Given the description of an element on the screen output the (x, y) to click on. 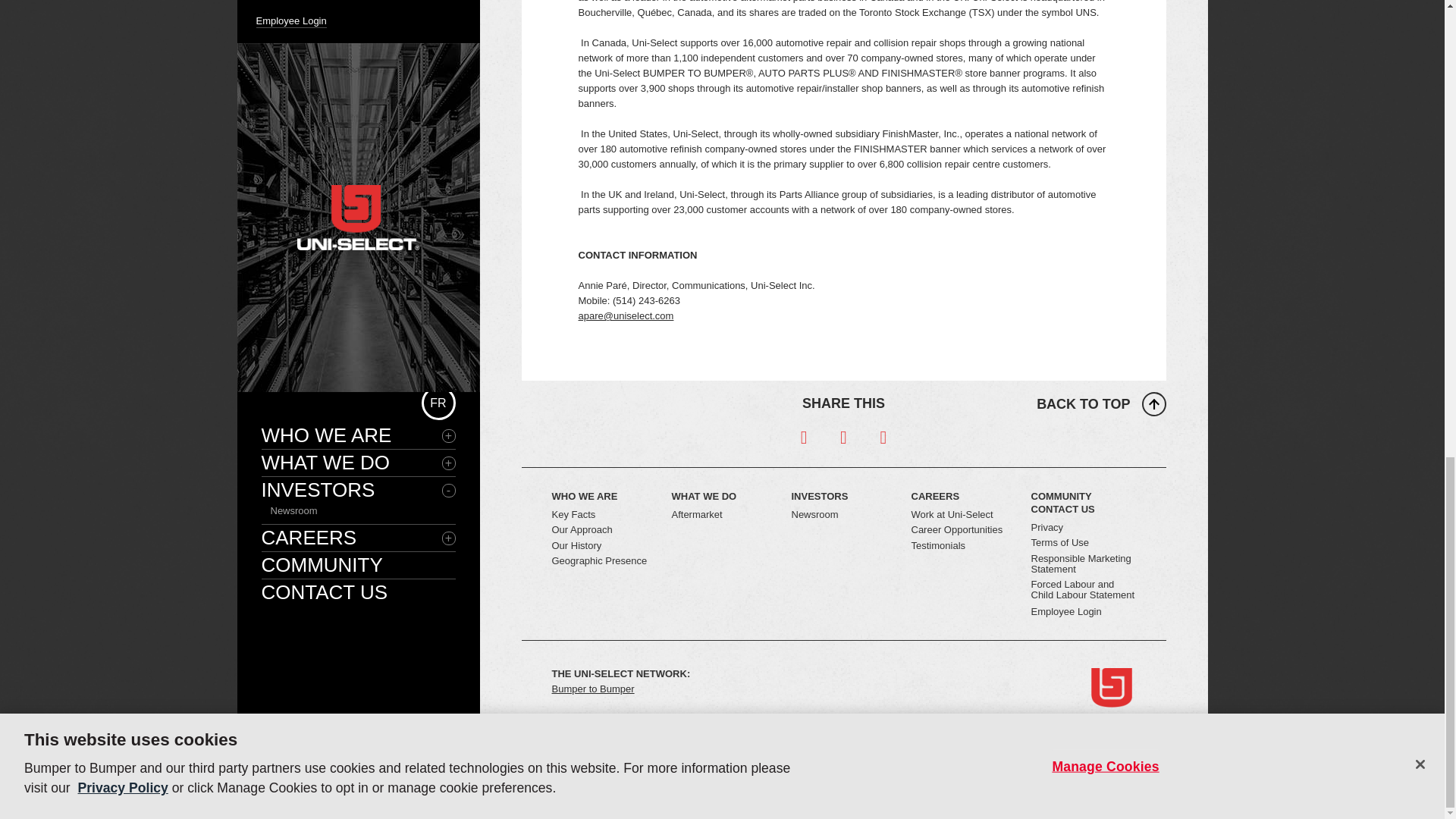
WHAT WE DO (723, 496)
Key Facts (573, 514)
CAREERS (963, 496)
INVESTORS (844, 496)
Geographic Presence (599, 560)
Our History (576, 545)
BACK TO TOP (1101, 404)
Our Approach (581, 529)
Career Opportunities (957, 529)
WHO WE ARE (603, 496)
Newsroom (815, 514)
Work at Uni-Select (951, 514)
Aftermarket (696, 514)
